Given the description of an element on the screen output the (x, y) to click on. 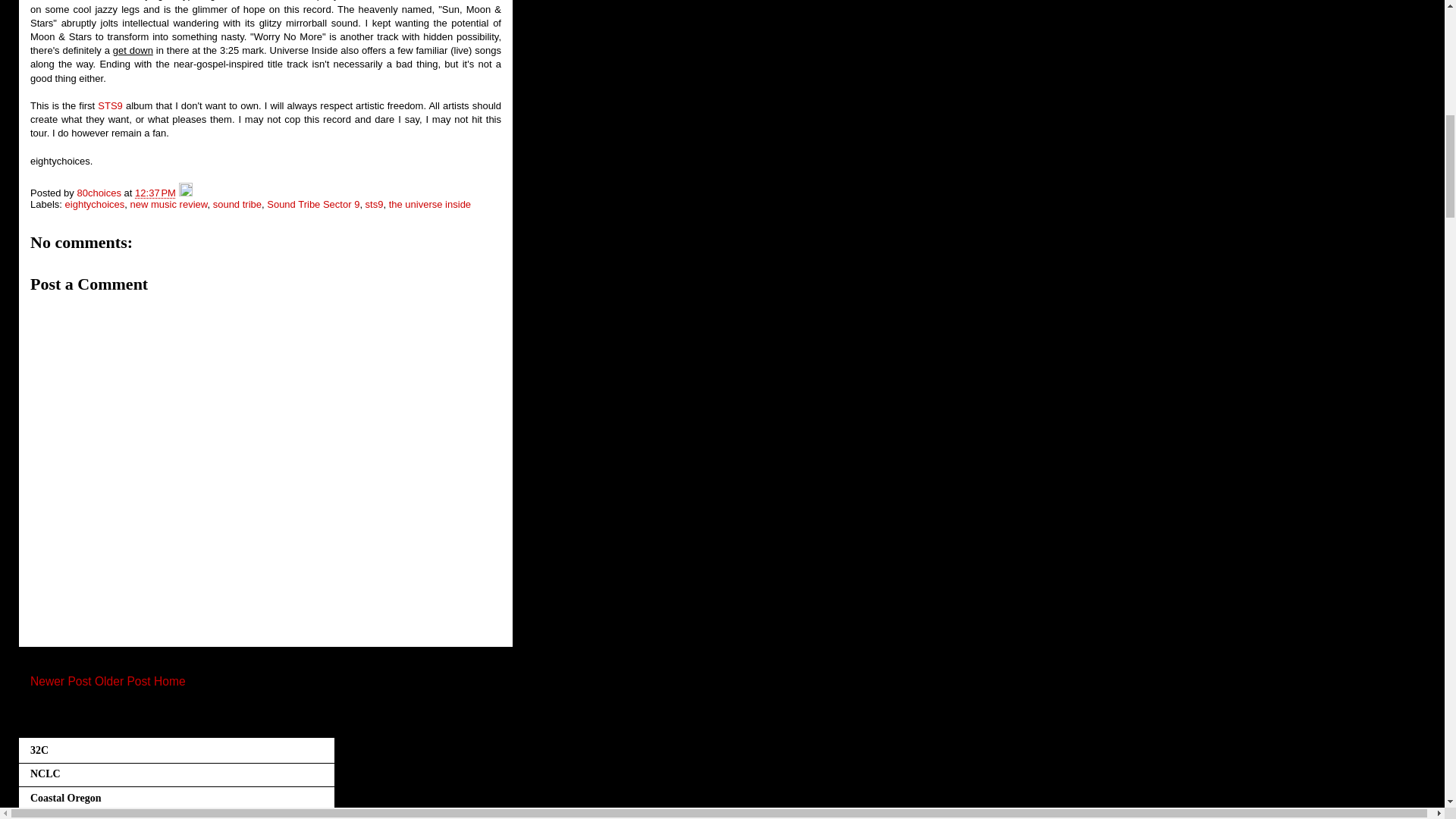
the universe inside (429, 204)
Edit Post (185, 193)
sound tribe (237, 204)
new music review (169, 204)
Coastal Oregon (65, 797)
Ecola State Park (68, 817)
Older Post (122, 680)
Sound Tribe Sector 9 (312, 204)
permanent link (155, 193)
sts9 (374, 204)
Home (170, 680)
STS9 (109, 105)
Older Post (122, 680)
author profile (100, 193)
